Given the description of an element on the screen output the (x, y) to click on. 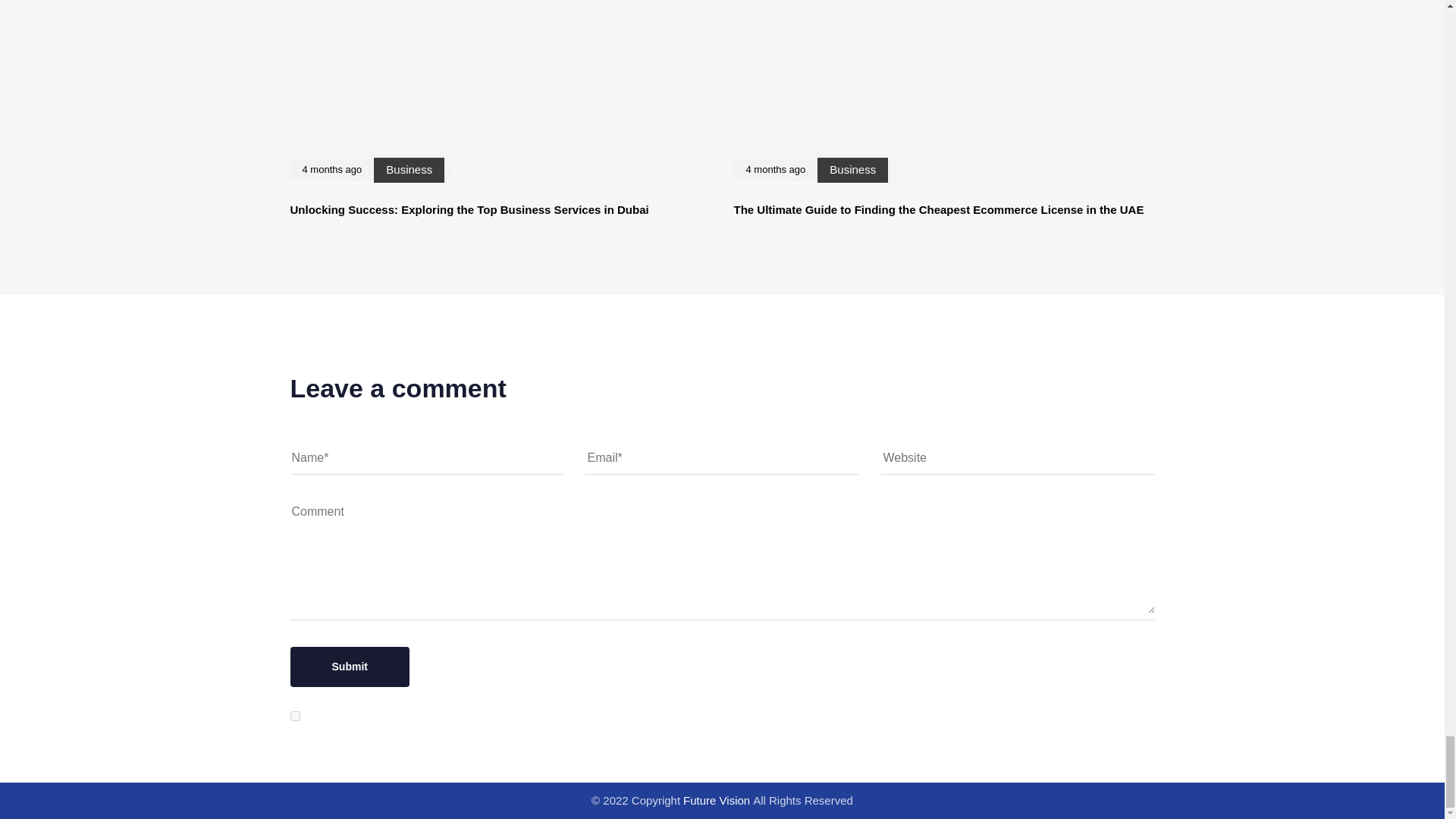
Submit (349, 667)
yes (294, 716)
